Given the description of an element on the screen output the (x, y) to click on. 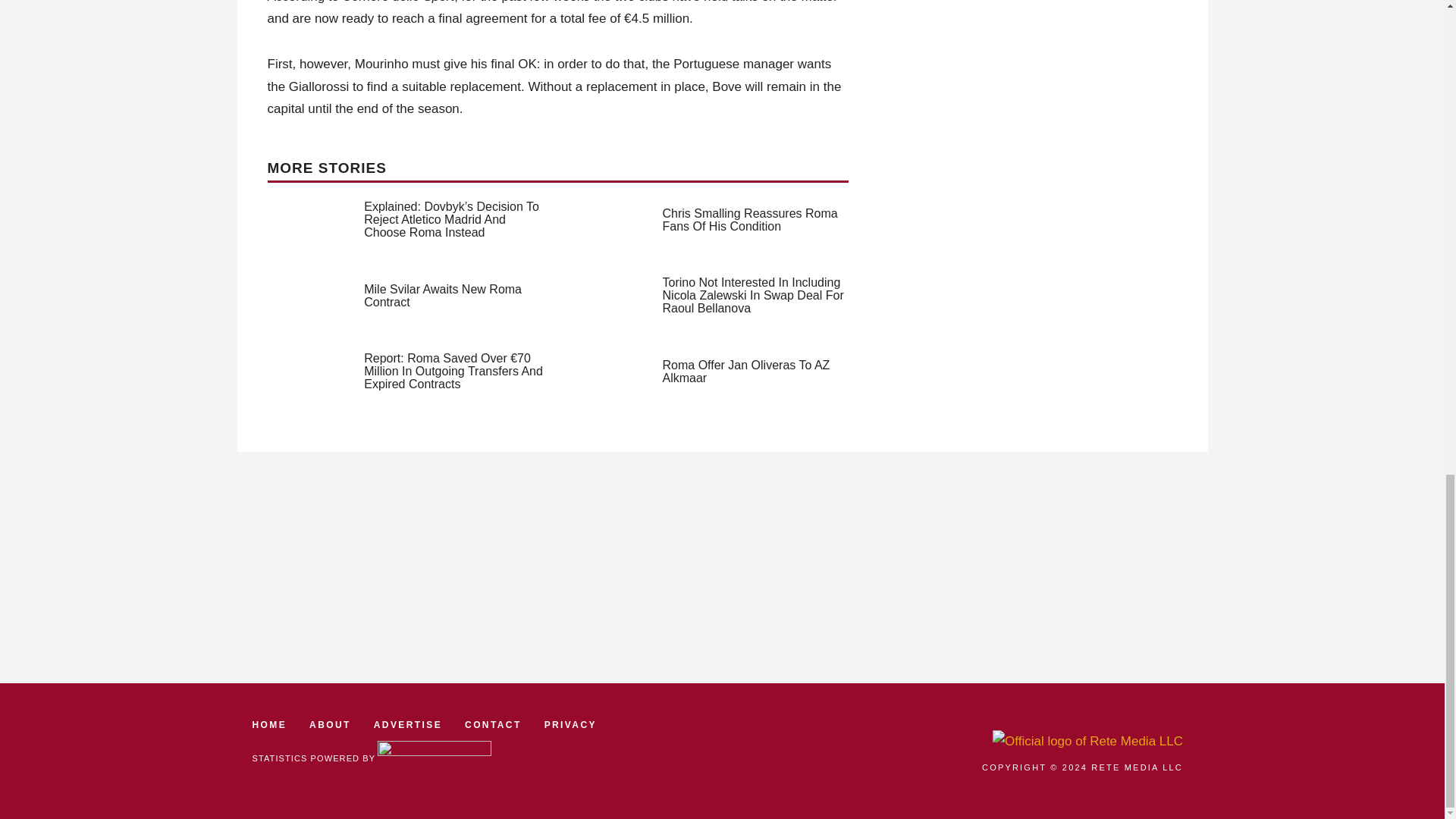
ADVERTISE (408, 725)
Roma Offer Jan Oliveras To AZ Alkmaar (745, 371)
PRIVACY (570, 725)
Chris Smalling Reassures Roma Fans Of His Condition (750, 219)
HOME (268, 725)
Mile Svilar Awaits New Roma Contract (442, 295)
ABOUT (329, 725)
CONTACT (492, 725)
